Given the description of an element on the screen output the (x, y) to click on. 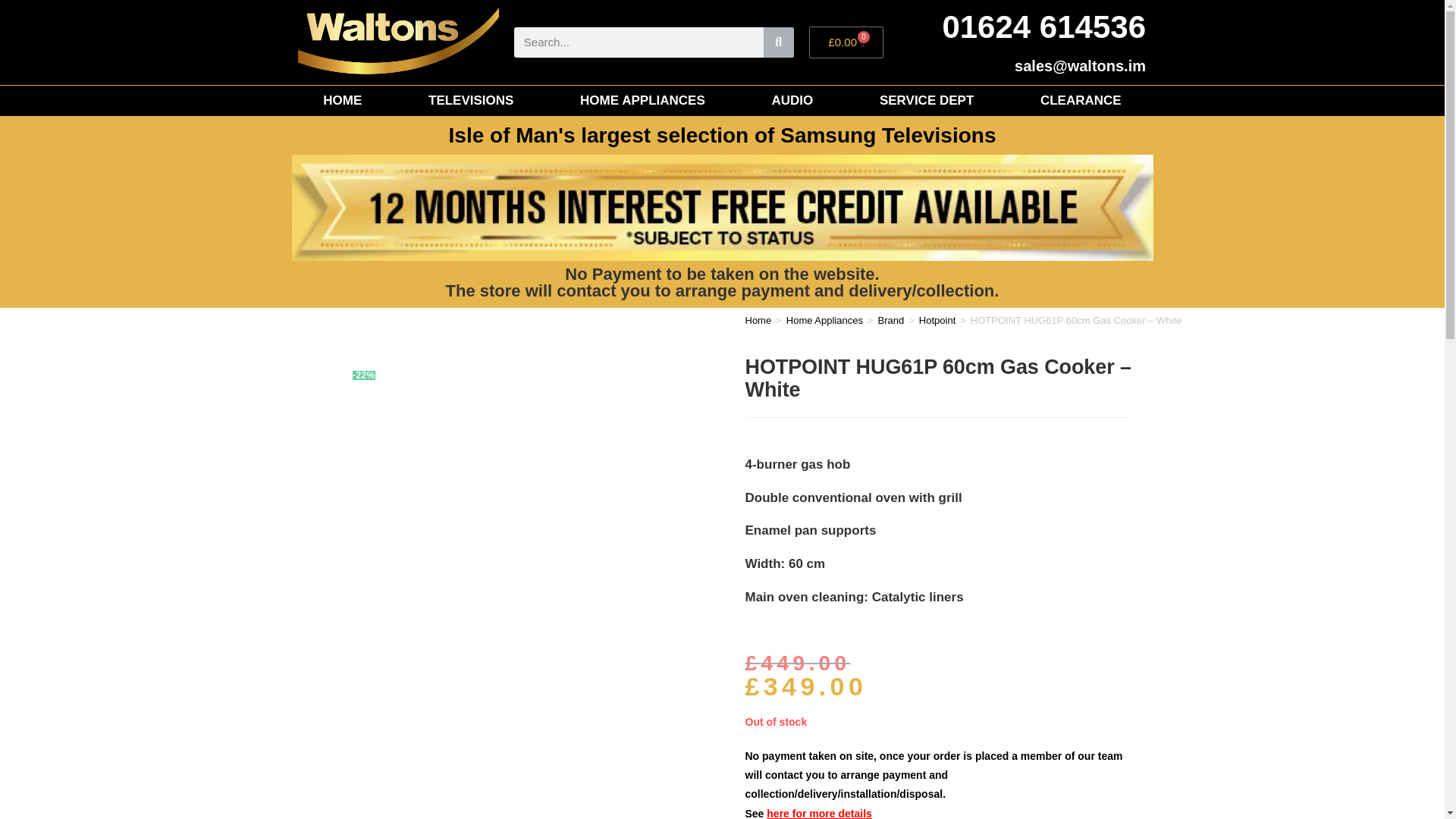
01624 614536 (1043, 27)
HOME APPLIANCES (642, 100)
HOME (341, 100)
TELEVISIONS (470, 100)
